Given the description of an element on the screen output the (x, y) to click on. 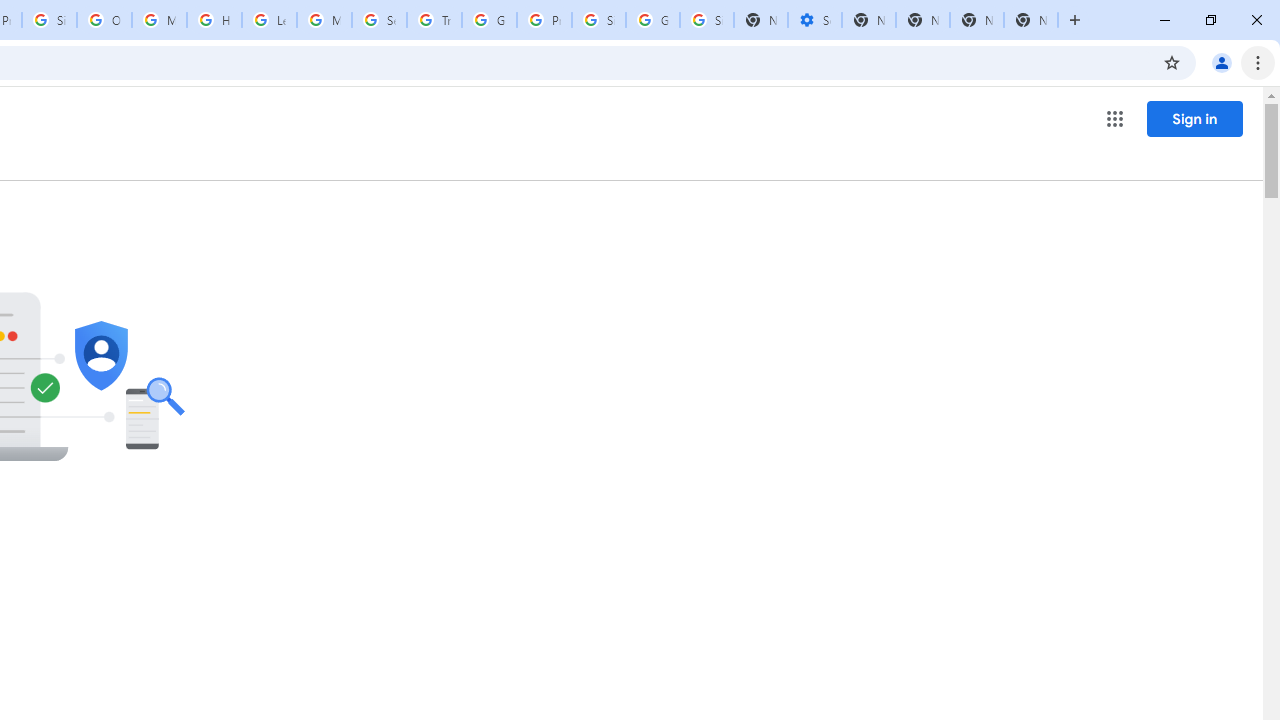
Sign in - Google Accounts (706, 20)
Google Ads - Sign in (489, 20)
Trusted Information and Content - Google Safety Center (434, 20)
Google Cybersecurity Innovations - Google Safety Center (652, 20)
Search our Doodle Library Collection - Google Doodles (379, 20)
New Tab (1030, 20)
